Given the description of an element on the screen output the (x, y) to click on. 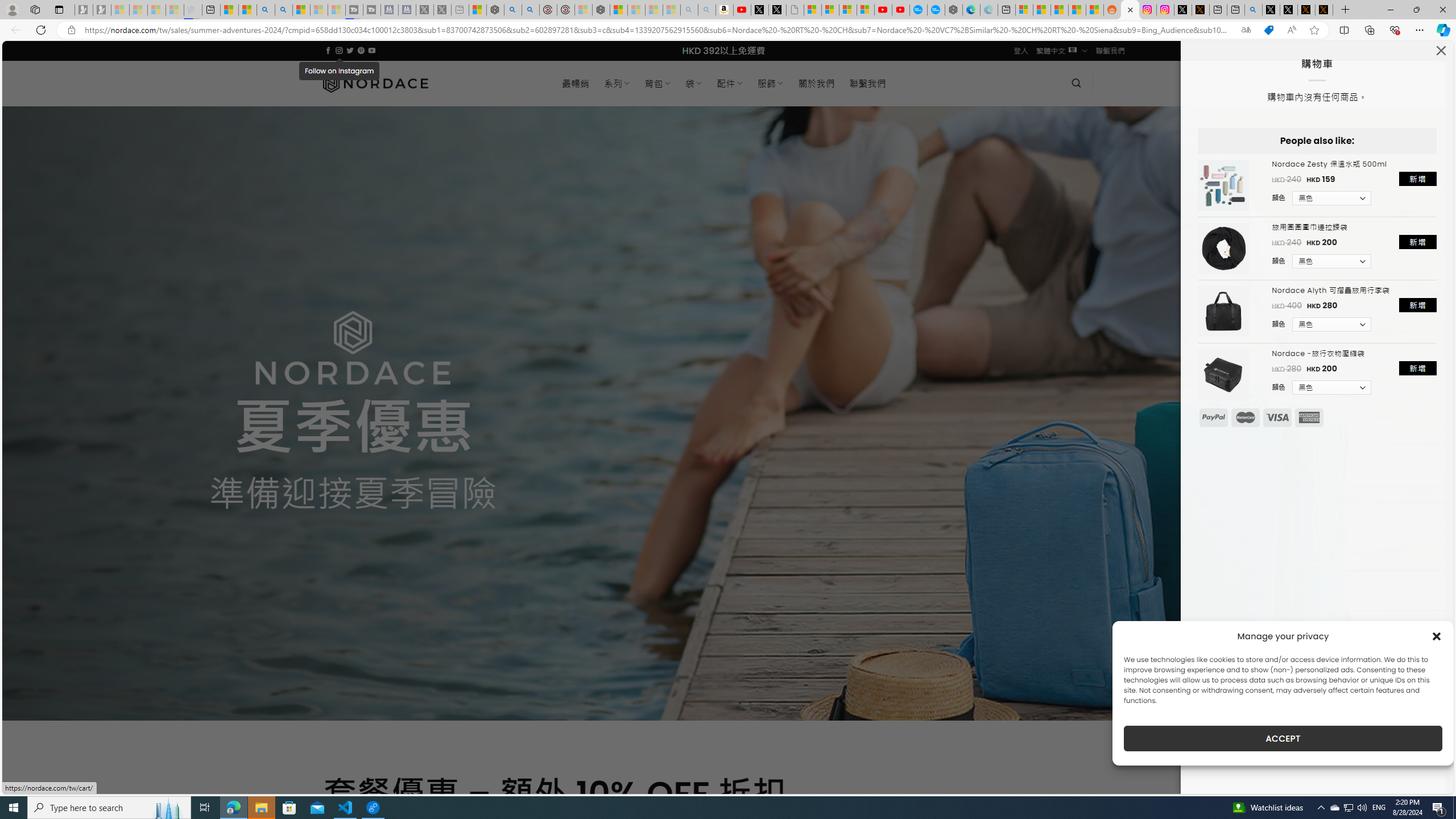
Class: feather feather-x (1440, 50)
